Given the description of an element on the screen output the (x, y) to click on. 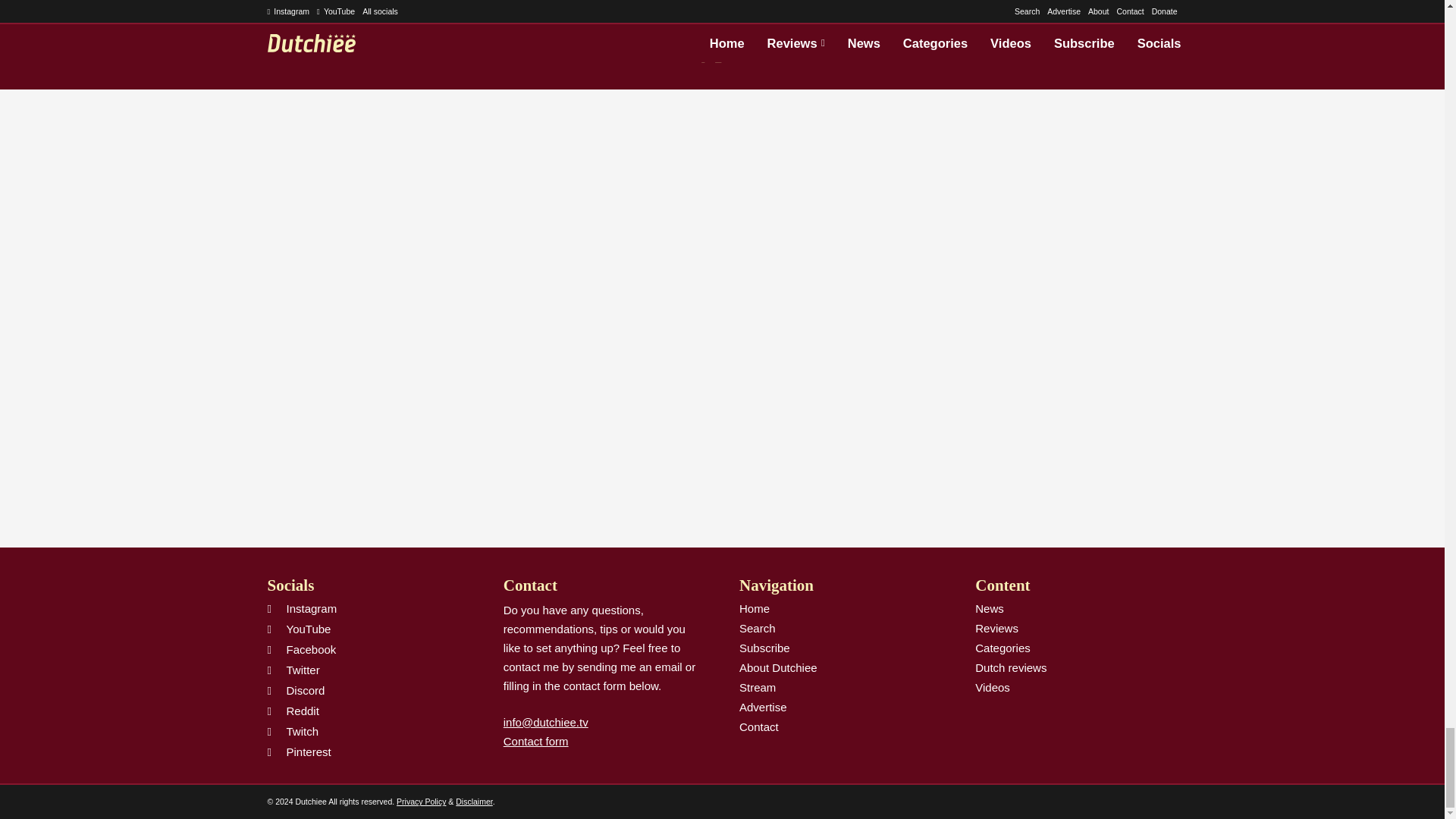
Twitter (711, 53)
